Given the description of an element on the screen output the (x, y) to click on. 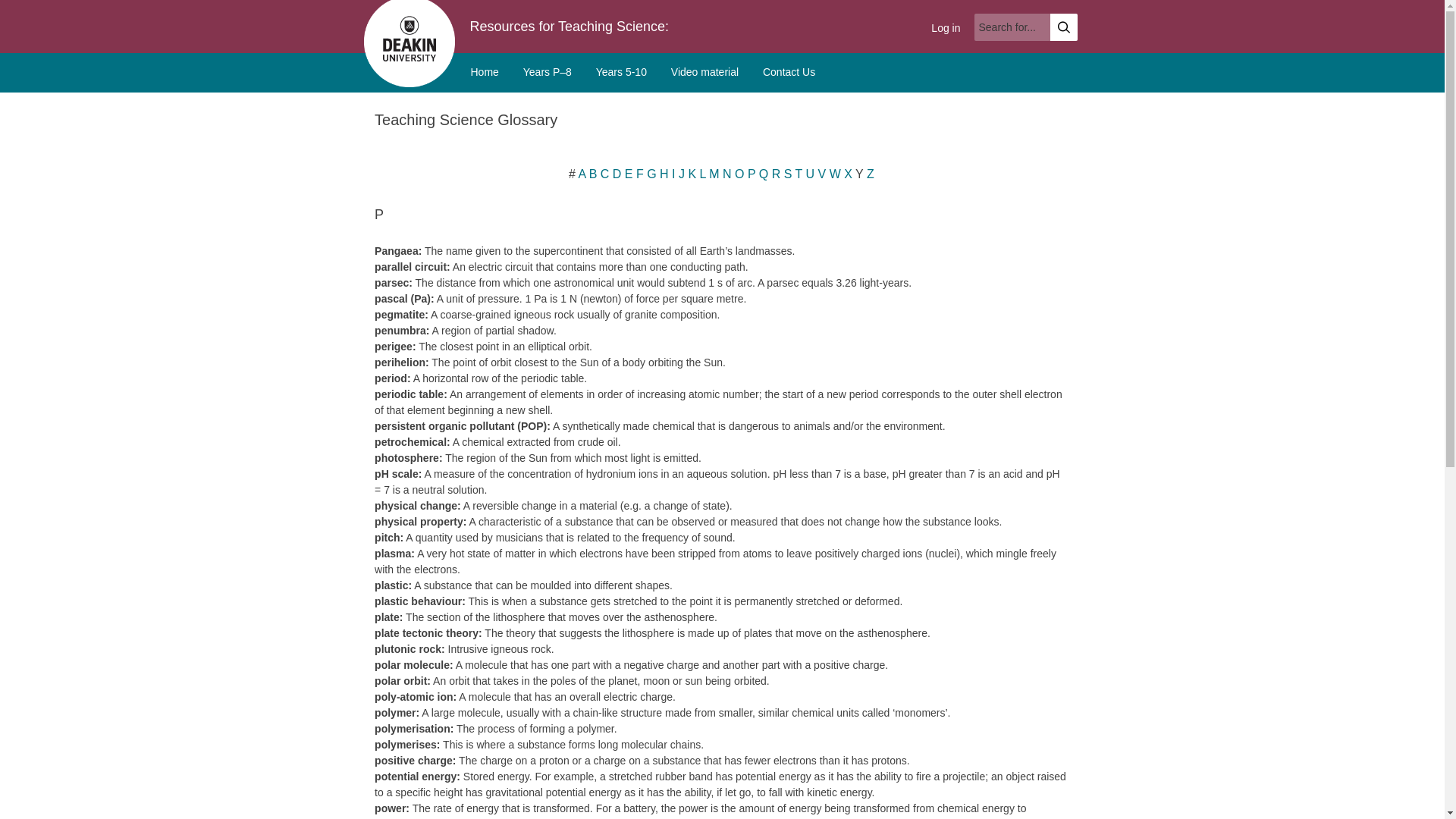
Log in (945, 28)
Skip to content (34, 7)
Resources for Teaching Science: (569, 26)
Home (484, 72)
Video material (705, 72)
Search (1063, 26)
Contact Us (788, 72)
Skip to content (34, 7)
 H (662, 173)
Search (1063, 26)
